Given the description of an element on the screen output the (x, y) to click on. 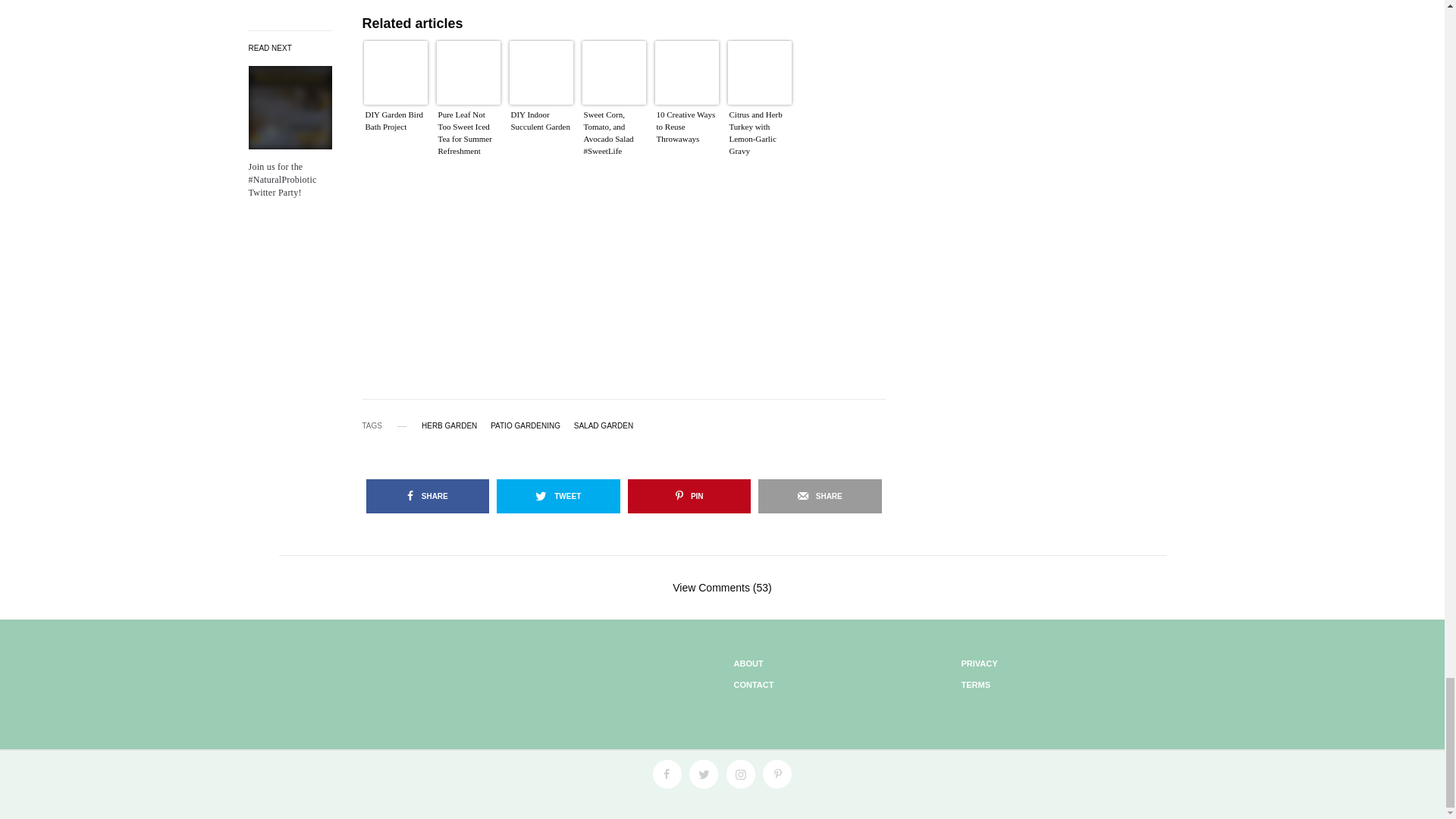
Pure Leaf Not Too Sweet Iced Tea for Summer Refreshment (468, 135)
SALAD GARDEN (603, 425)
DIY Garden Bird Bath Project (396, 135)
PATIO GARDENING (525, 425)
DIY Indoor Succulent Garden (541, 135)
10 Creative Ways to Reuse Throwaways (687, 135)
HERB GARDEN (449, 425)
Citrus and Herb Turkey with Lemon-Garlic Gravy (760, 135)
